Given the description of an element on the screen output the (x, y) to click on. 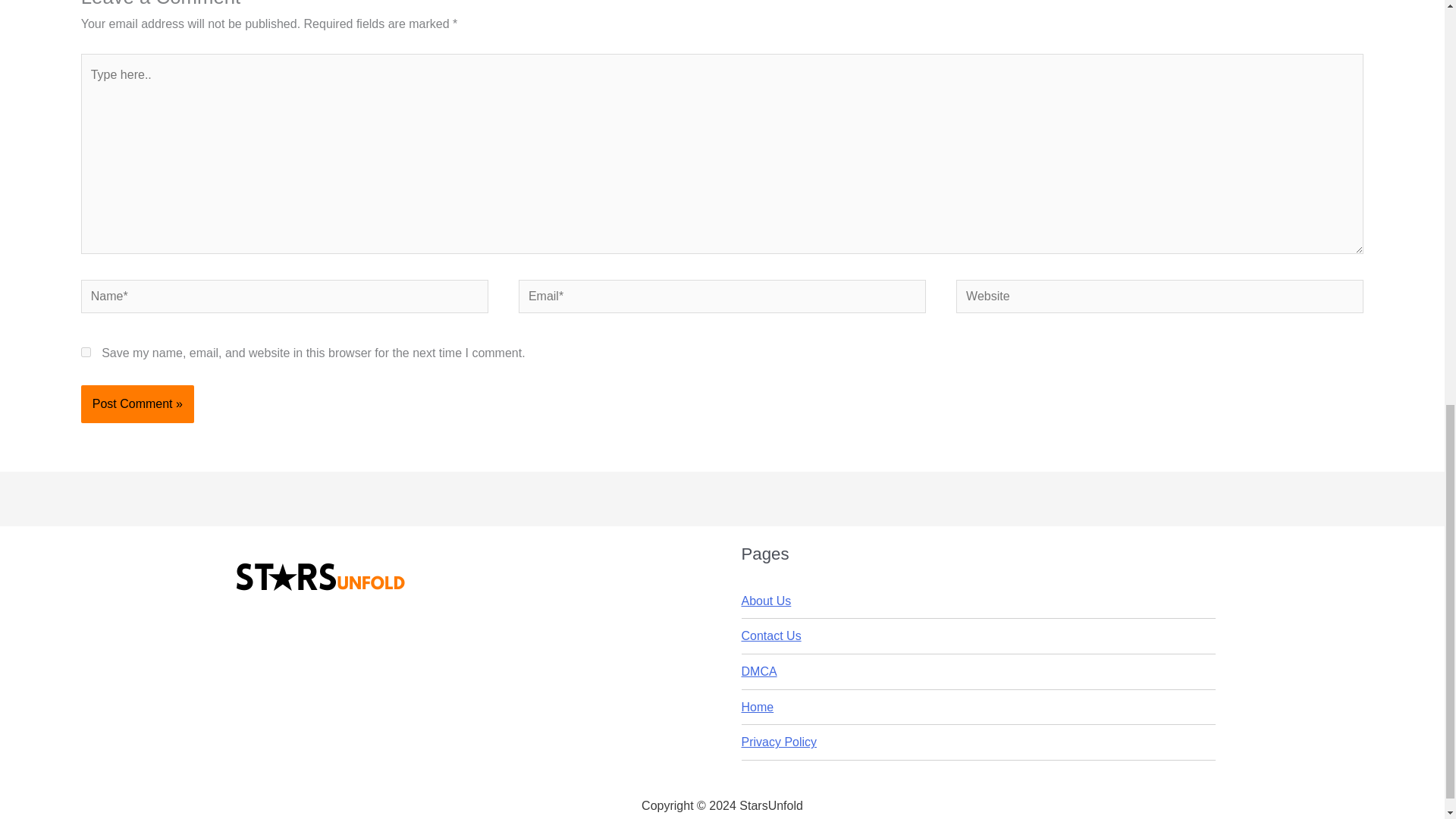
Contact Us (771, 635)
Privacy Policy (778, 741)
DMCA (759, 671)
About Us (766, 600)
yes (85, 352)
Home (757, 707)
